Given the description of an element on the screen output the (x, y) to click on. 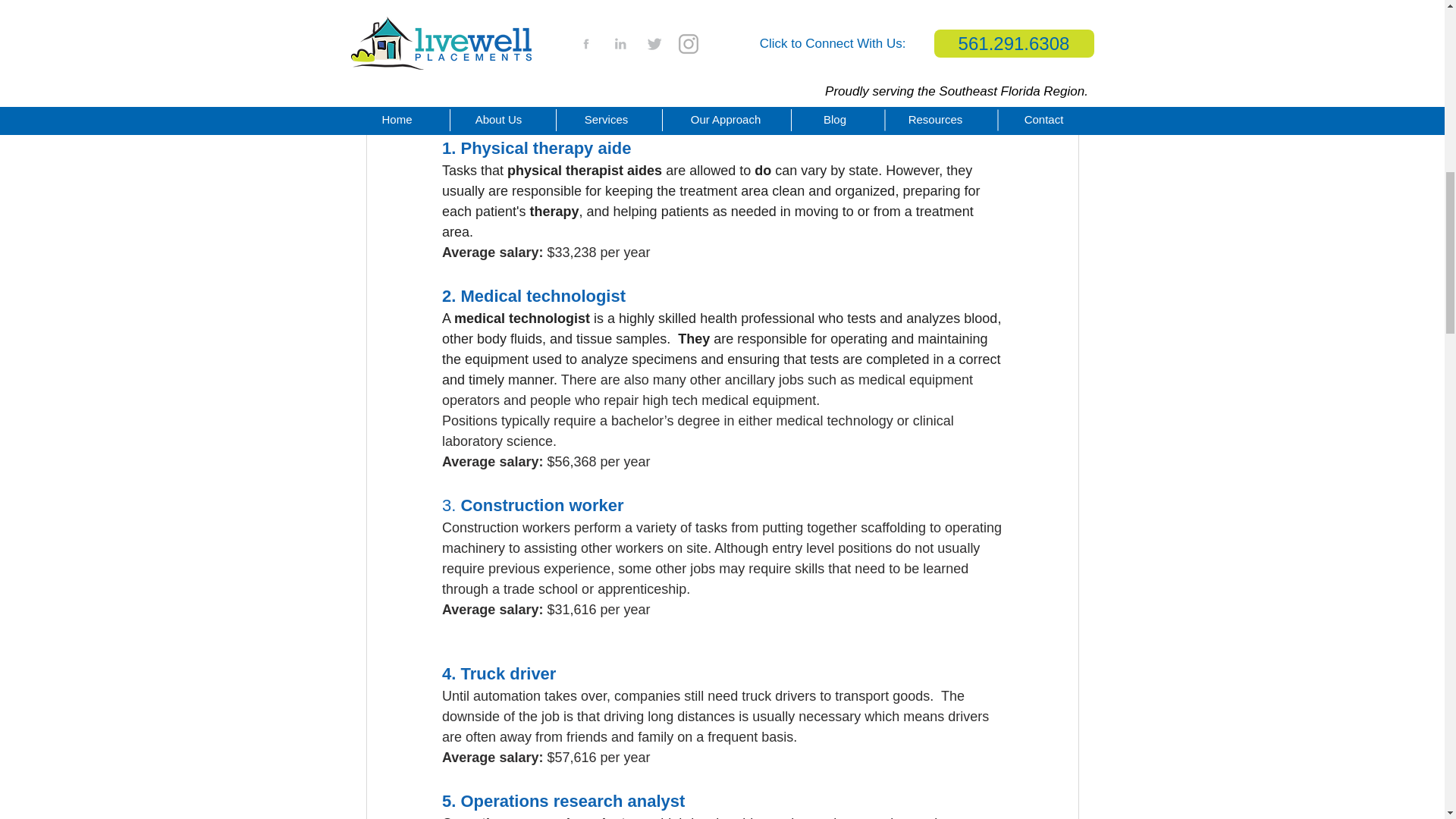
prepared to thrive (880, 22)
growth rates (549, 63)
LiveWell Placements (550, 43)
best jobs (856, 4)
healthcare fields (490, 83)
